Given the description of an element on the screen output the (x, y) to click on. 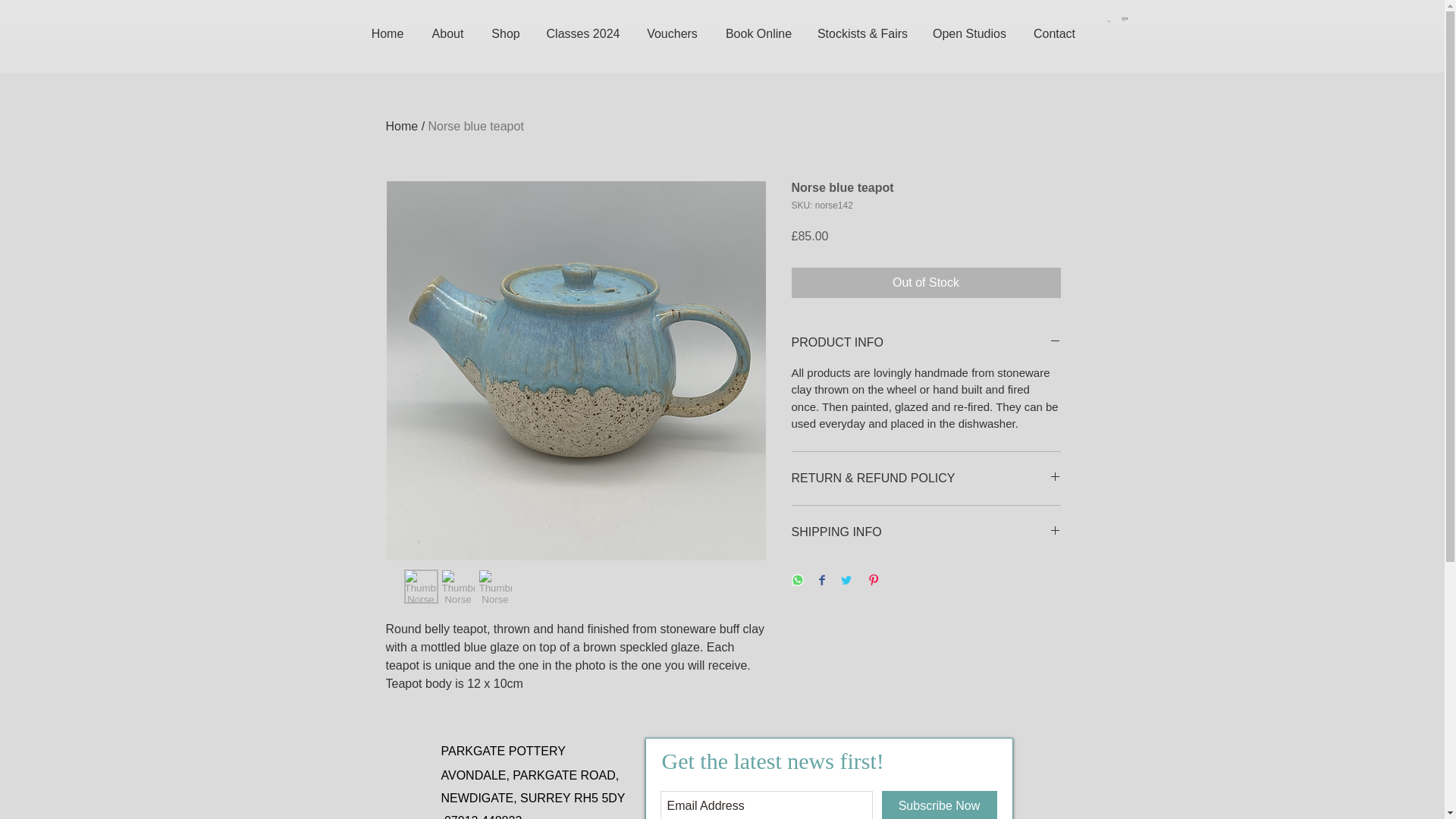
Open Studios (968, 34)
Contact (1054, 34)
Home (387, 34)
Shop (504, 34)
Vouchers (671, 34)
About (446, 34)
Home (401, 125)
Classes 2024 (583, 34)
Book Online (758, 34)
